Given the description of an element on the screen output the (x, y) to click on. 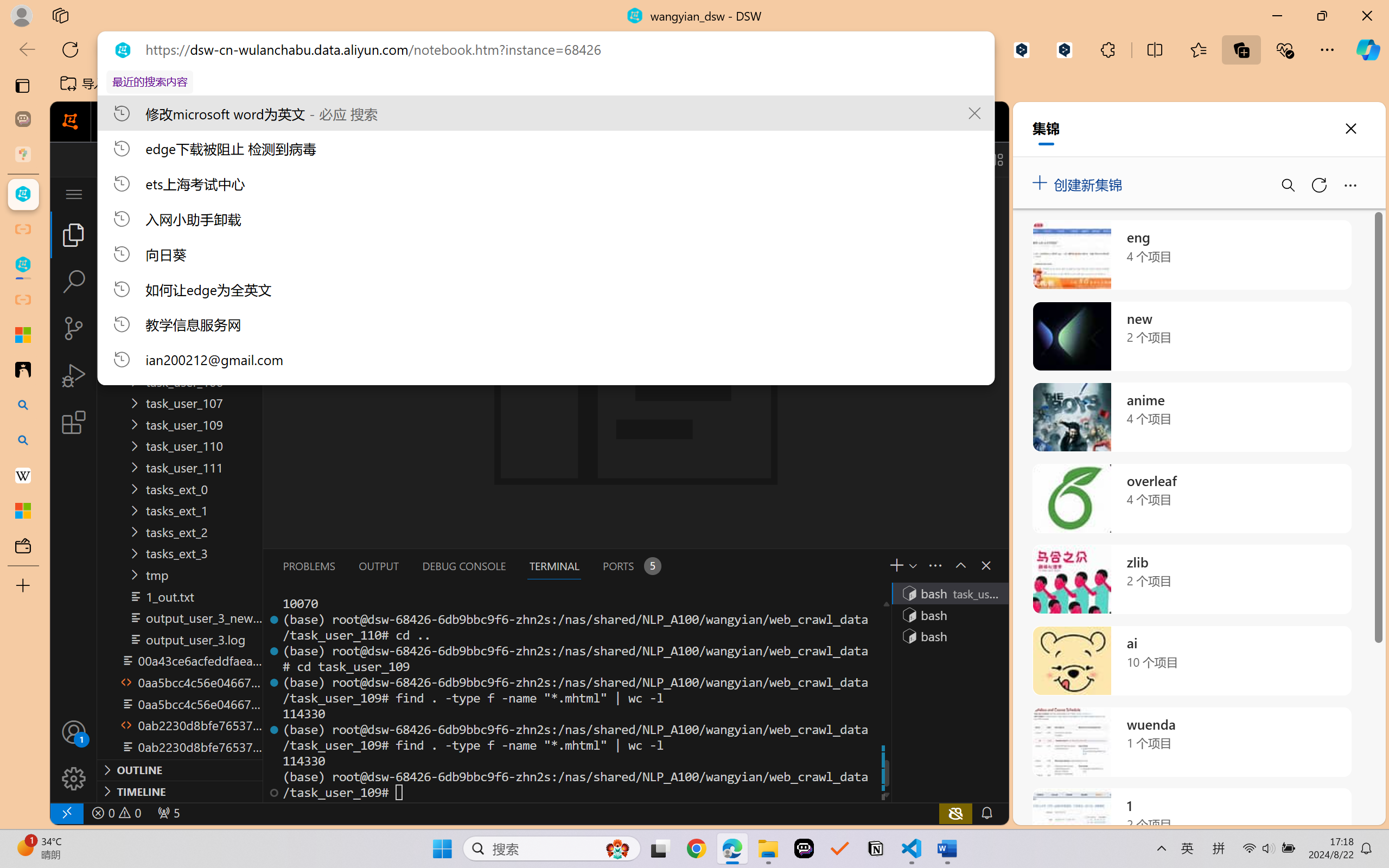
Gmail (345, 83)
Title actions (957, 159)
Application Menu (73, 194)
Manage (73, 778)
Toggle Secondary Side Bar (Ctrl+Alt+B) (969, 159)
Close Panel (986, 565)
Debug Console (Ctrl+Shift+Y) (463, 565)
WebIDE (463, 121)
